Given the description of an element on the screen output the (x, y) to click on. 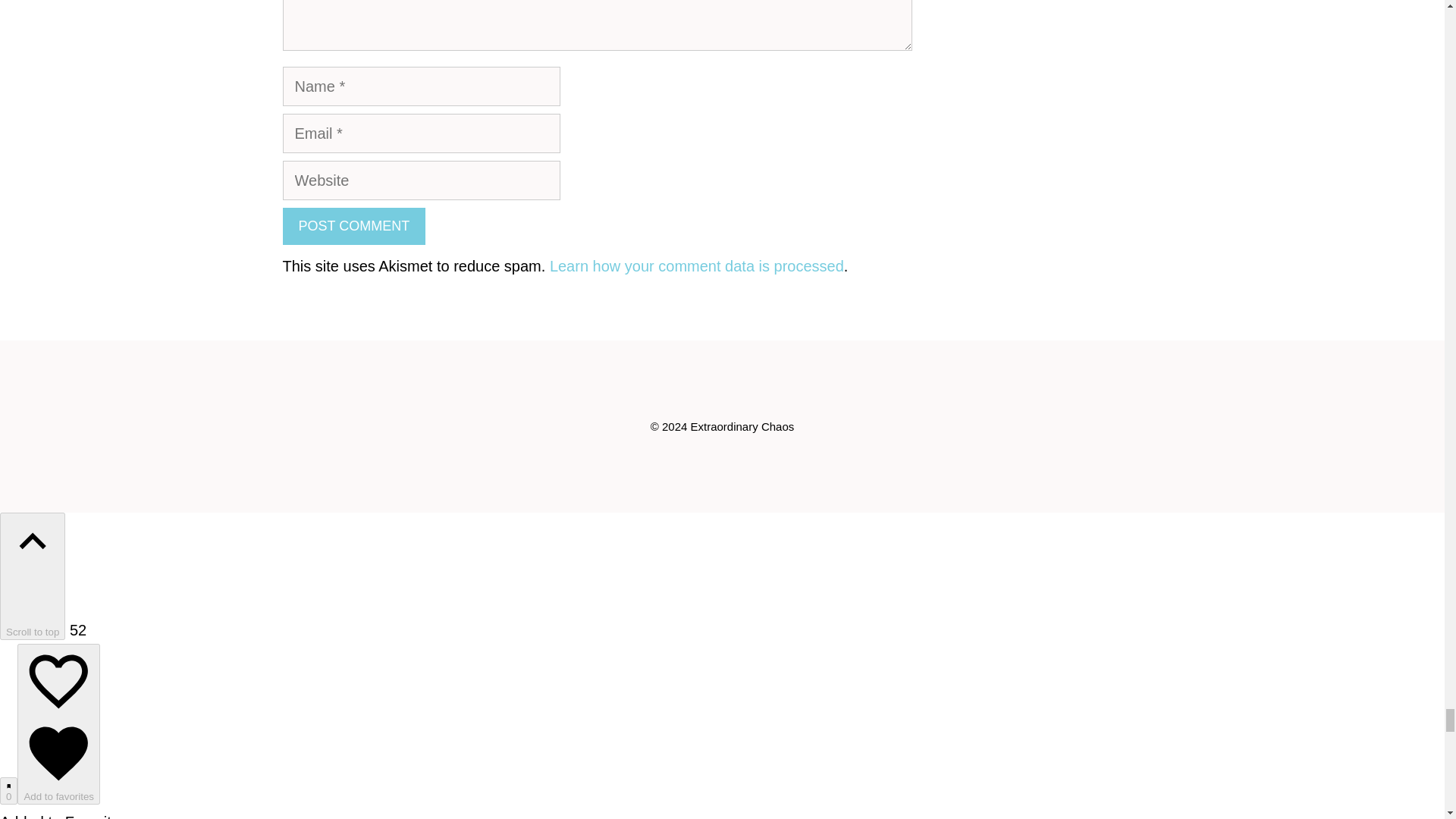
Post Comment (353, 226)
